Given the description of an element on the screen output the (x, y) to click on. 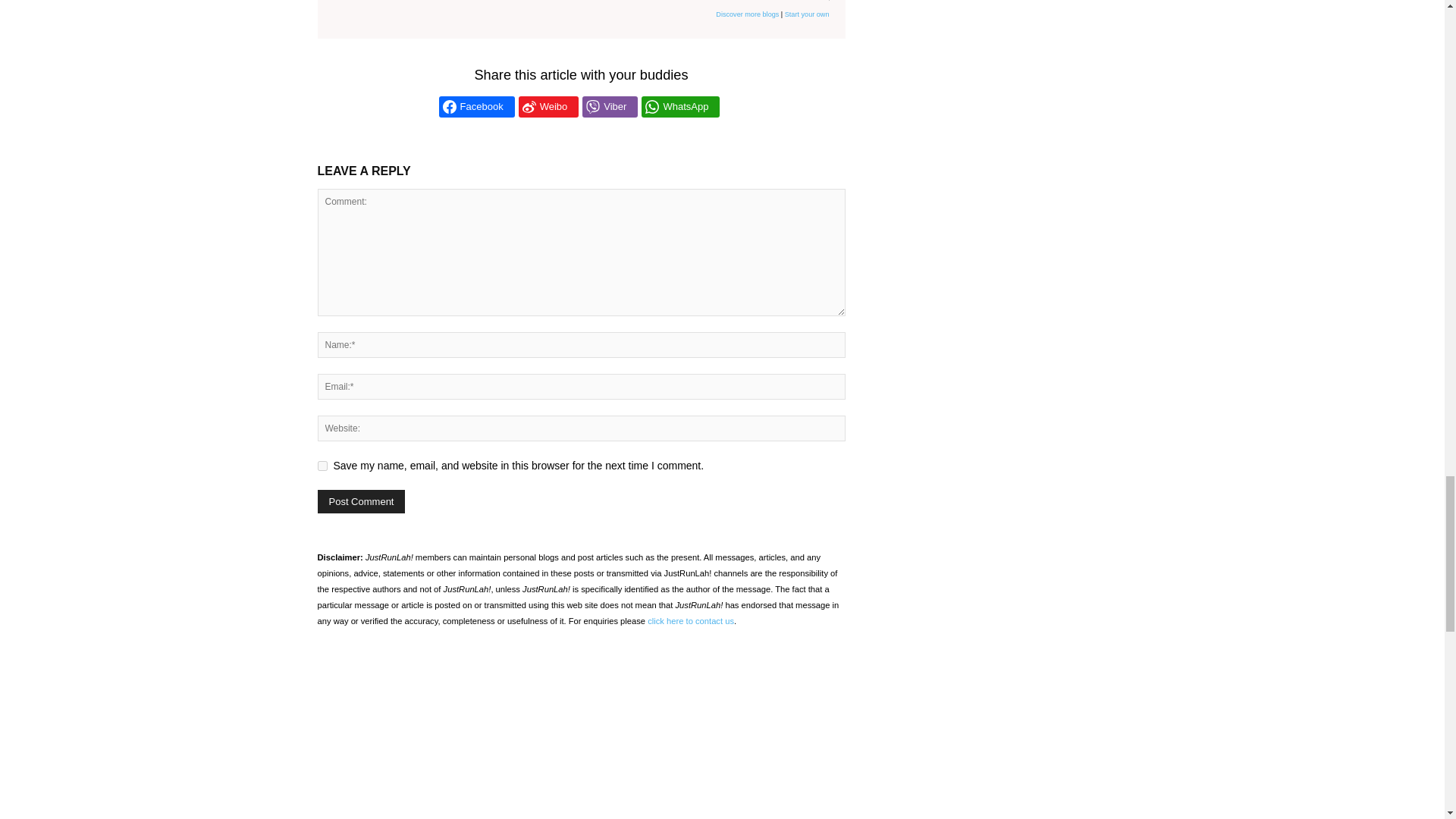
Post Comment (360, 501)
yes (321, 465)
